Given the description of an element on the screen output the (x, y) to click on. 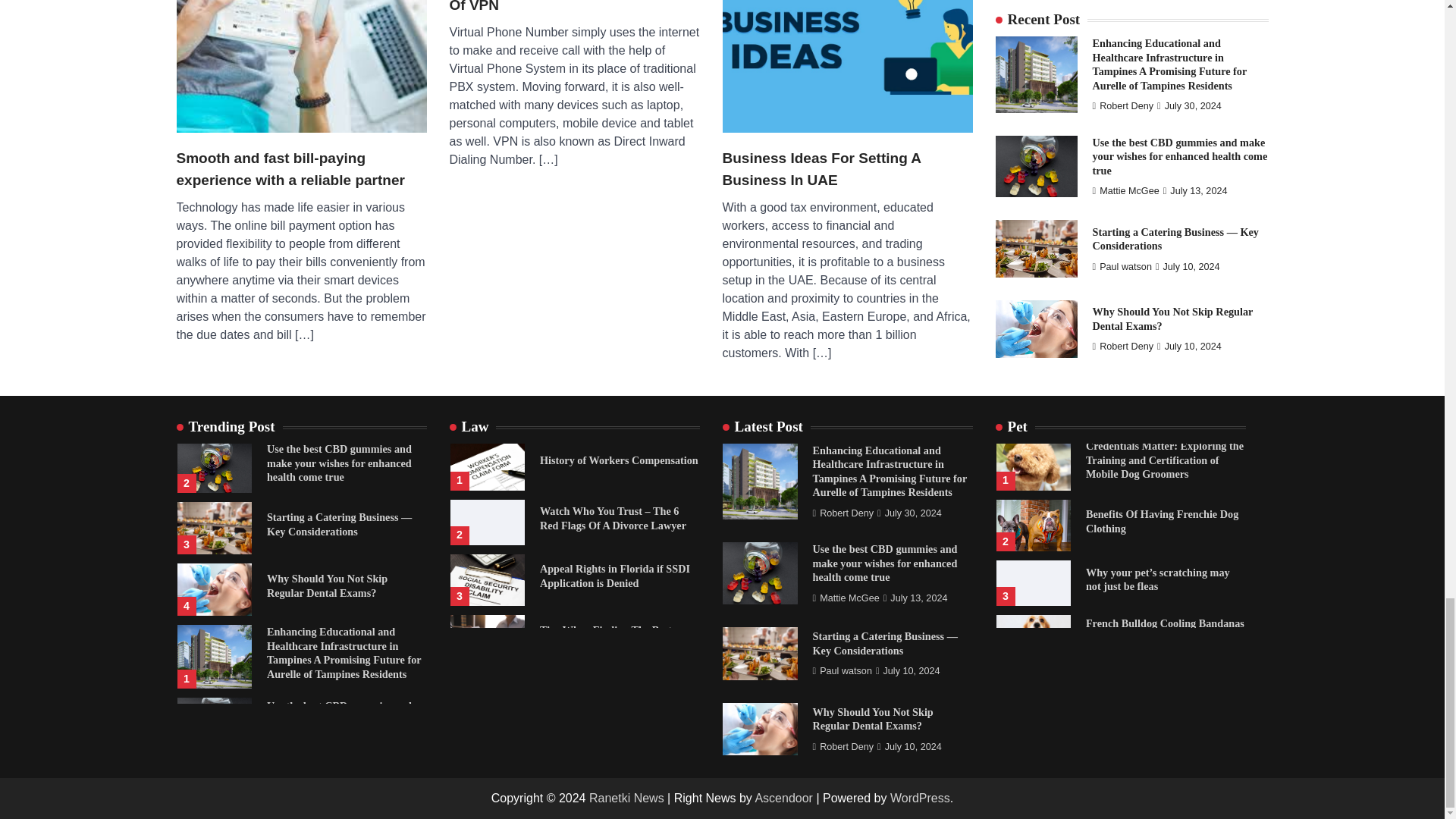
Business Ideas For Setting A Business In UAE (847, 169)
Get Familiar With Various Services Of VPN (573, 7)
